Given the description of an element on the screen output the (x, y) to click on. 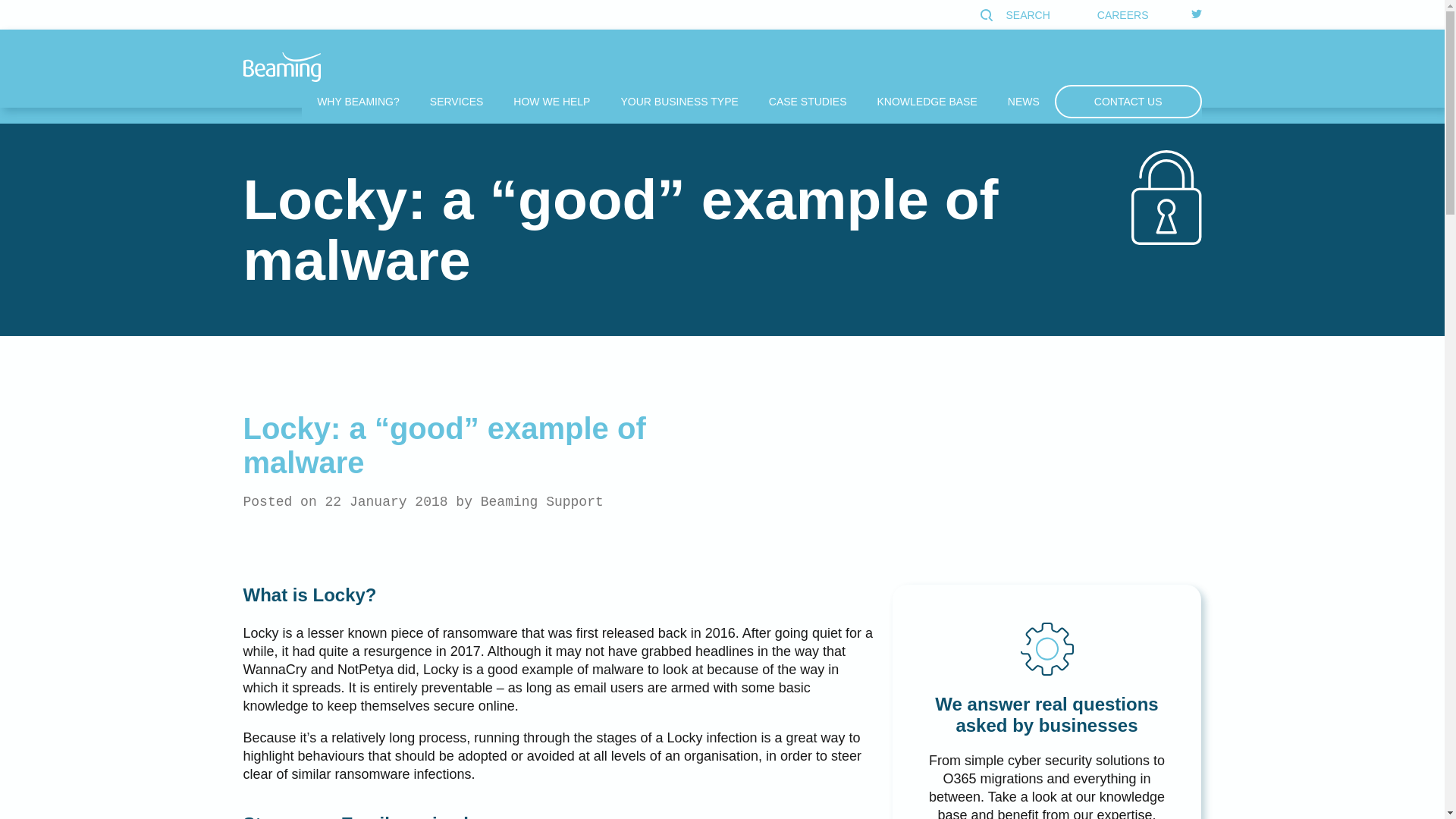
SERVICES (456, 101)
CAREERS (1123, 15)
WHY BEAMING? (357, 101)
Asset 16 (1046, 648)
BEAMING (281, 66)
HOW WE HELP (551, 101)
CAREERS (1123, 14)
SEARCH (1016, 15)
